Given the description of an element on the screen output the (x, y) to click on. 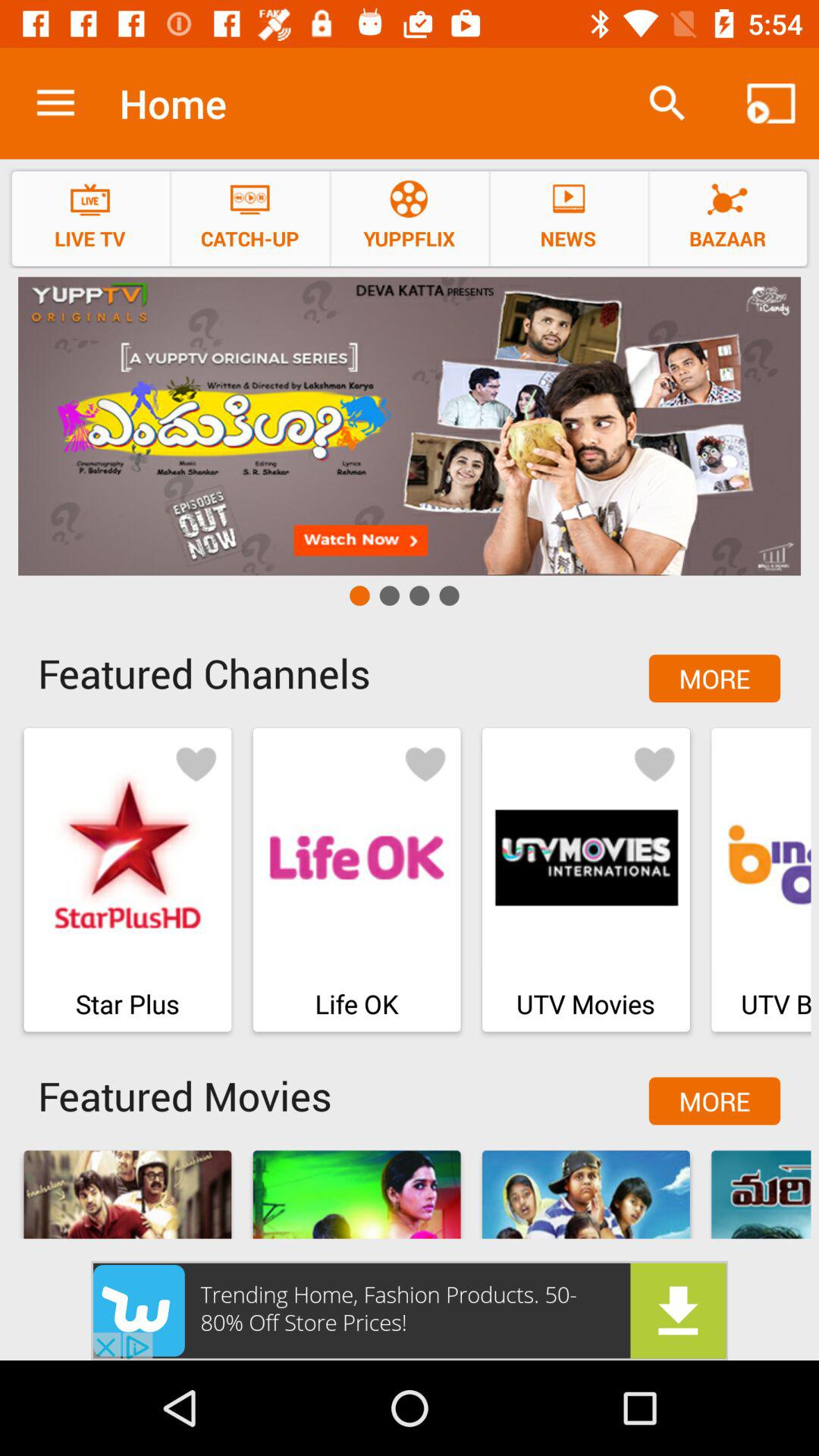
like button (654, 763)
